Given the description of an element on the screen output the (x, y) to click on. 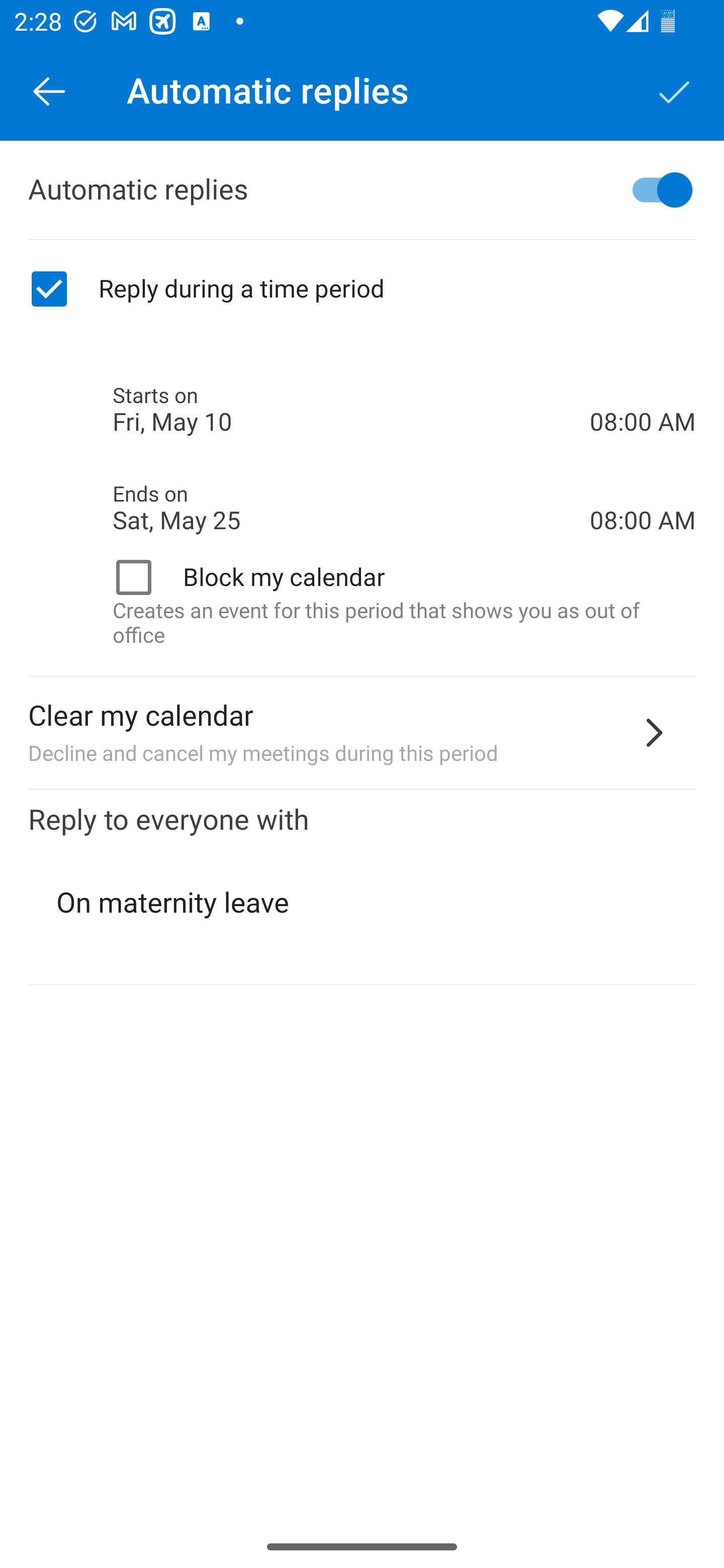
Back (49, 90)
Save (674, 90)
Automatic replies (362, 190)
Reply during a time period (362, 288)
08:00 AM (642, 387)
Starts on Fri, May 10 (351, 409)
08:00 AM (642, 485)
Ends on Sat, May 25 (351, 507)
Reply to everyone with Edit box On maternity leave (361, 887)
On maternity leave (363, 902)
